Given the description of an element on the screen output the (x, y) to click on. 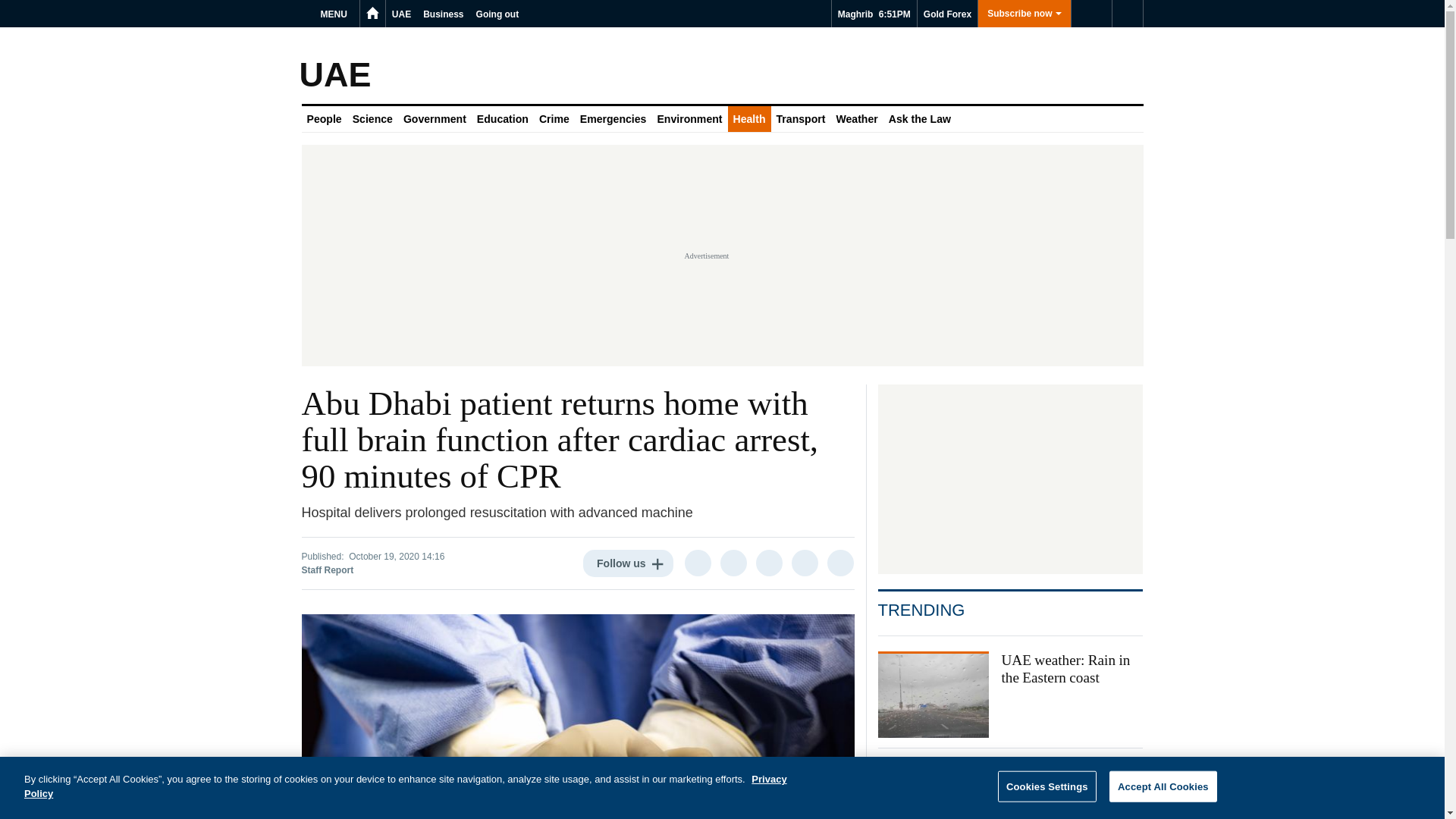
Maghrib 6:51PM (874, 13)
Business (442, 13)
UAE (400, 13)
Subscribe now (1024, 13)
Going out (497, 13)
MENU (336, 13)
Gold Forex (946, 13)
